Given the description of an element on the screen output the (x, y) to click on. 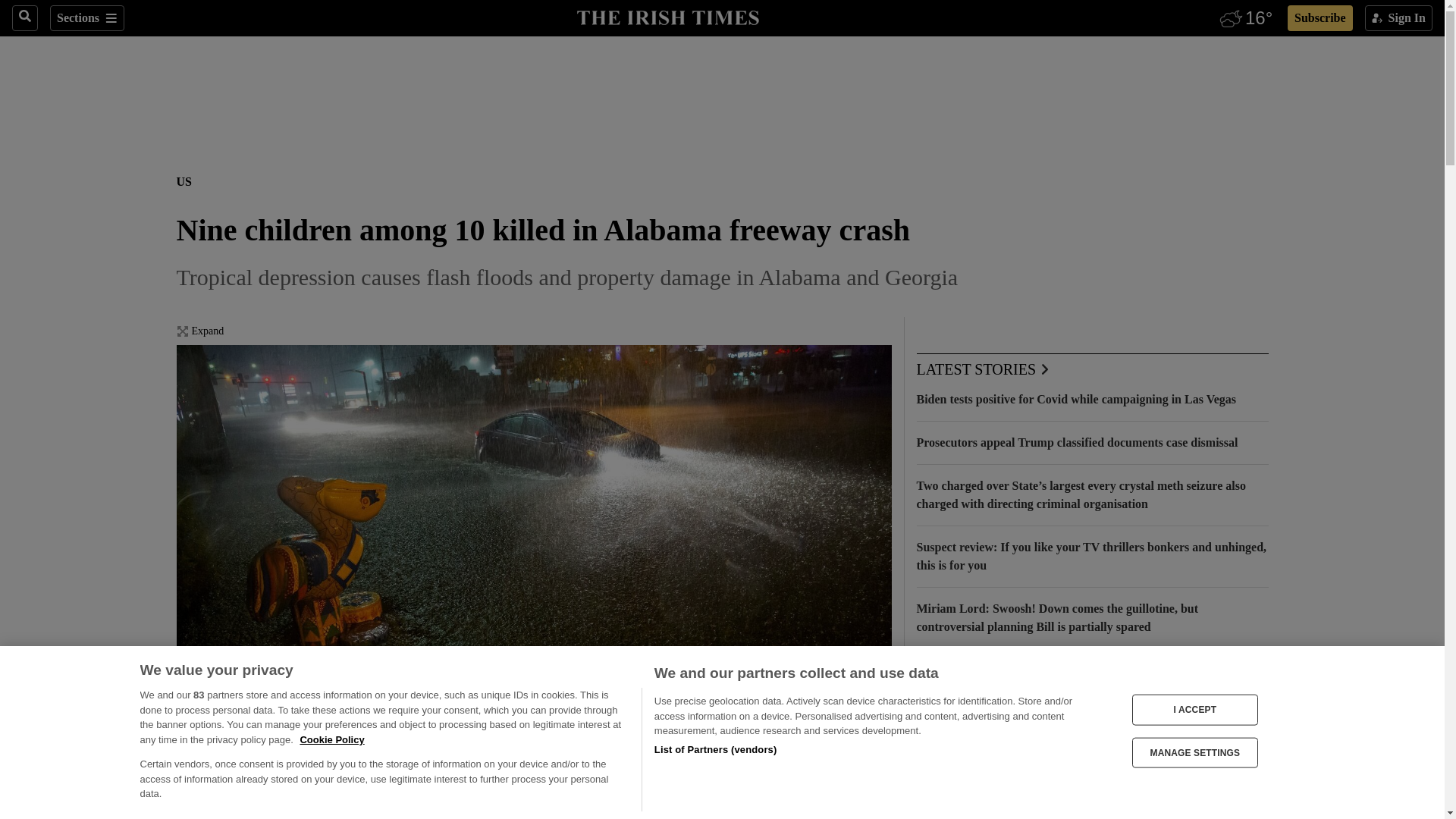
The Irish Times (667, 16)
Subscribe (1319, 17)
WhatsApp (244, 816)
Sign In (1398, 17)
Sections (86, 17)
X (215, 816)
Facebook (184, 816)
